Given the description of an element on the screen output the (x, y) to click on. 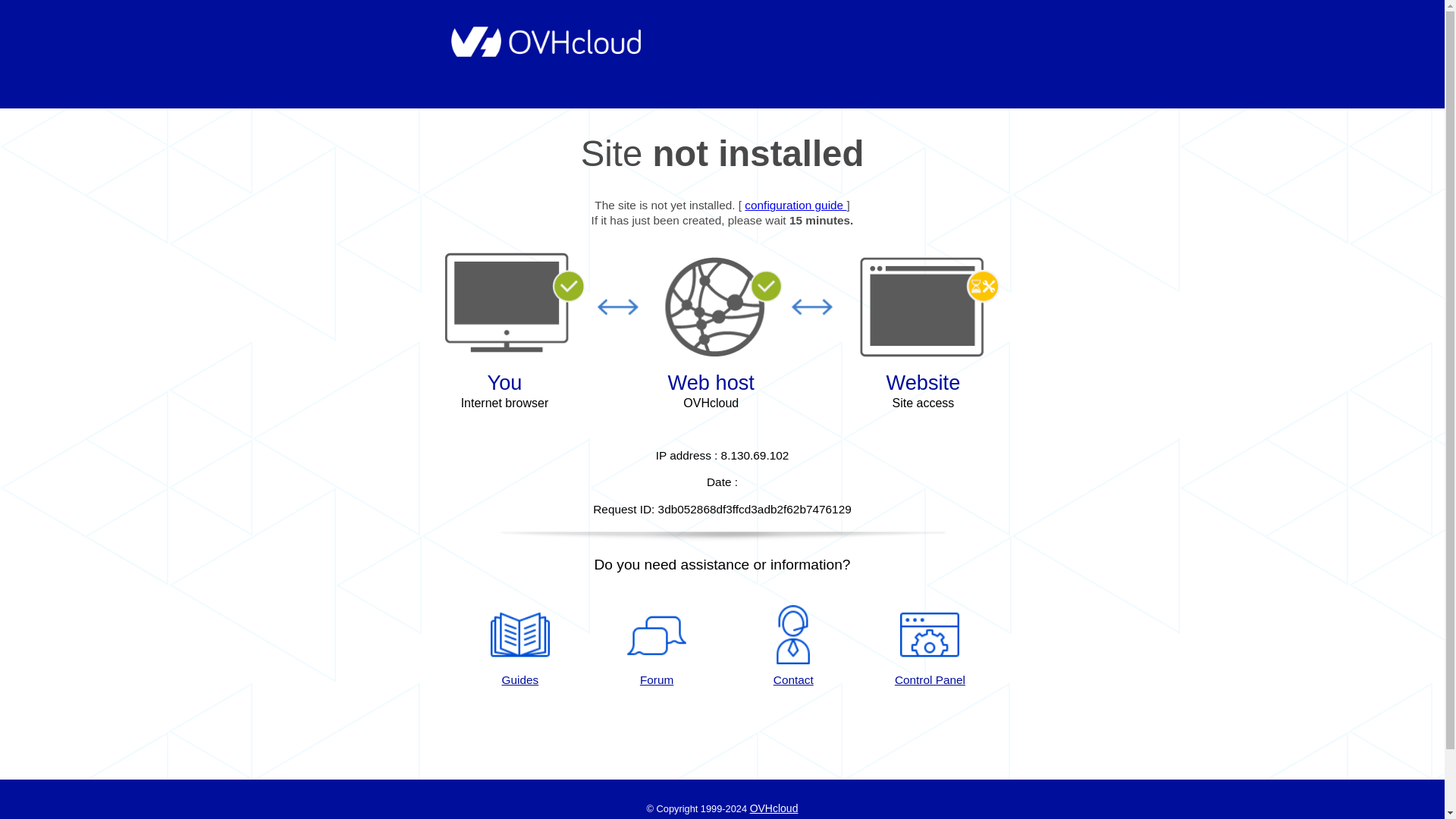
Guides (519, 646)
Control Panel (930, 646)
configuration guide (794, 205)
Guides (519, 646)
OVHcloud (773, 808)
Contact (793, 646)
Guides (794, 205)
Forum (656, 646)
Contact (793, 646)
Forum (656, 646)
Control Panel (930, 646)
